Given the description of an element on the screen output the (x, y) to click on. 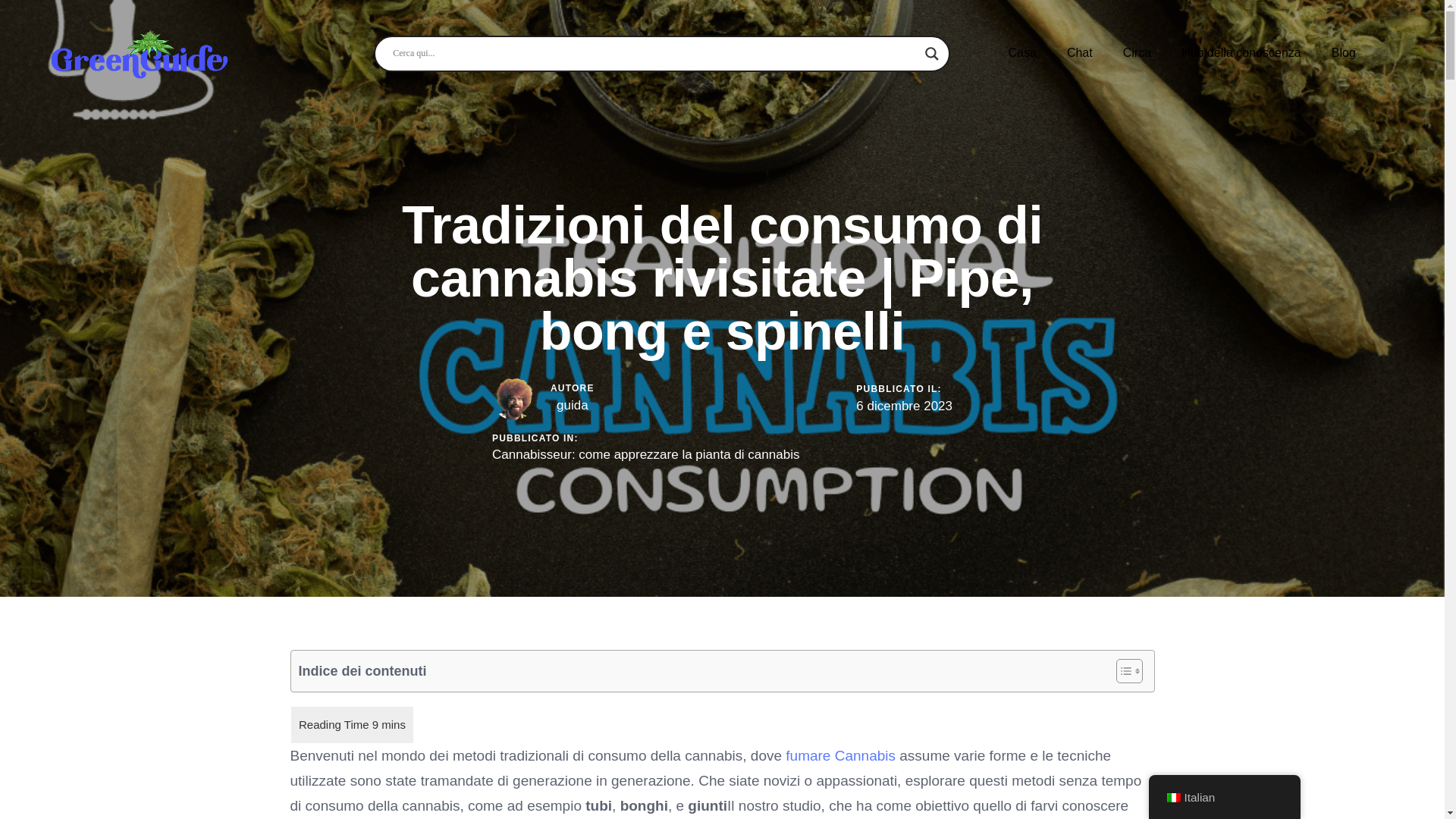
6 dicembre 2023 (904, 406)
Hub della conoscenza (1241, 53)
Cannabisseur: come apprezzare la pianta di cannabis (645, 454)
guida (572, 405)
fumare Cannabis (842, 755)
Messaggi di guide (572, 405)
